Given the description of an element on the screen output the (x, y) to click on. 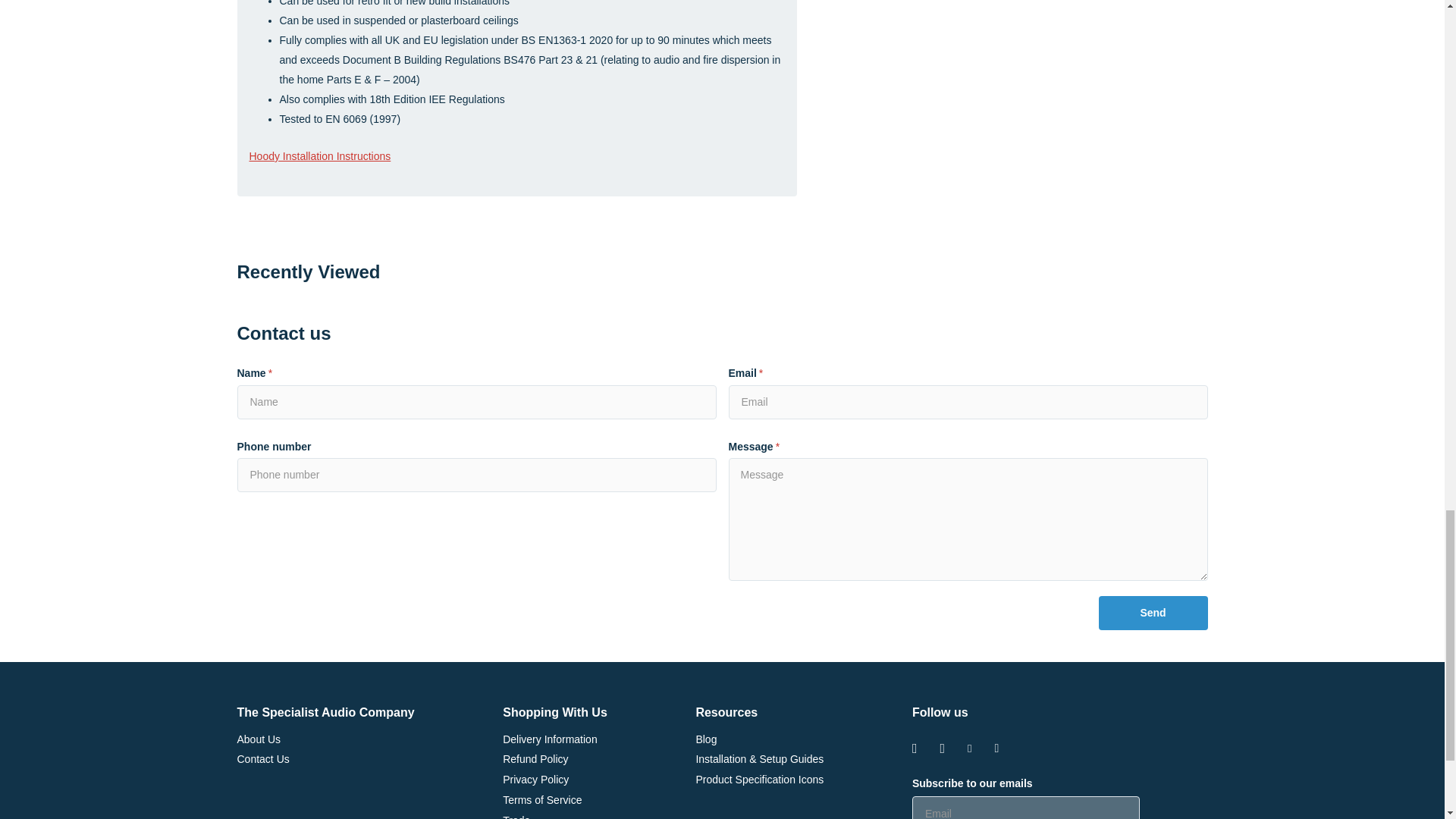
Refund Policy (534, 758)
Hoody-FIRE-ACOUSTICHOOD7-Fire-Hood-Brochure (319, 155)
Product Specification Icons (759, 779)
Contact Us (261, 758)
Blog (705, 738)
Privacy Policy (535, 779)
Trade (515, 816)
Delivery Information (549, 738)
About Us (258, 738)
Terms of Service (541, 799)
